Given the description of an element on the screen output the (x, y) to click on. 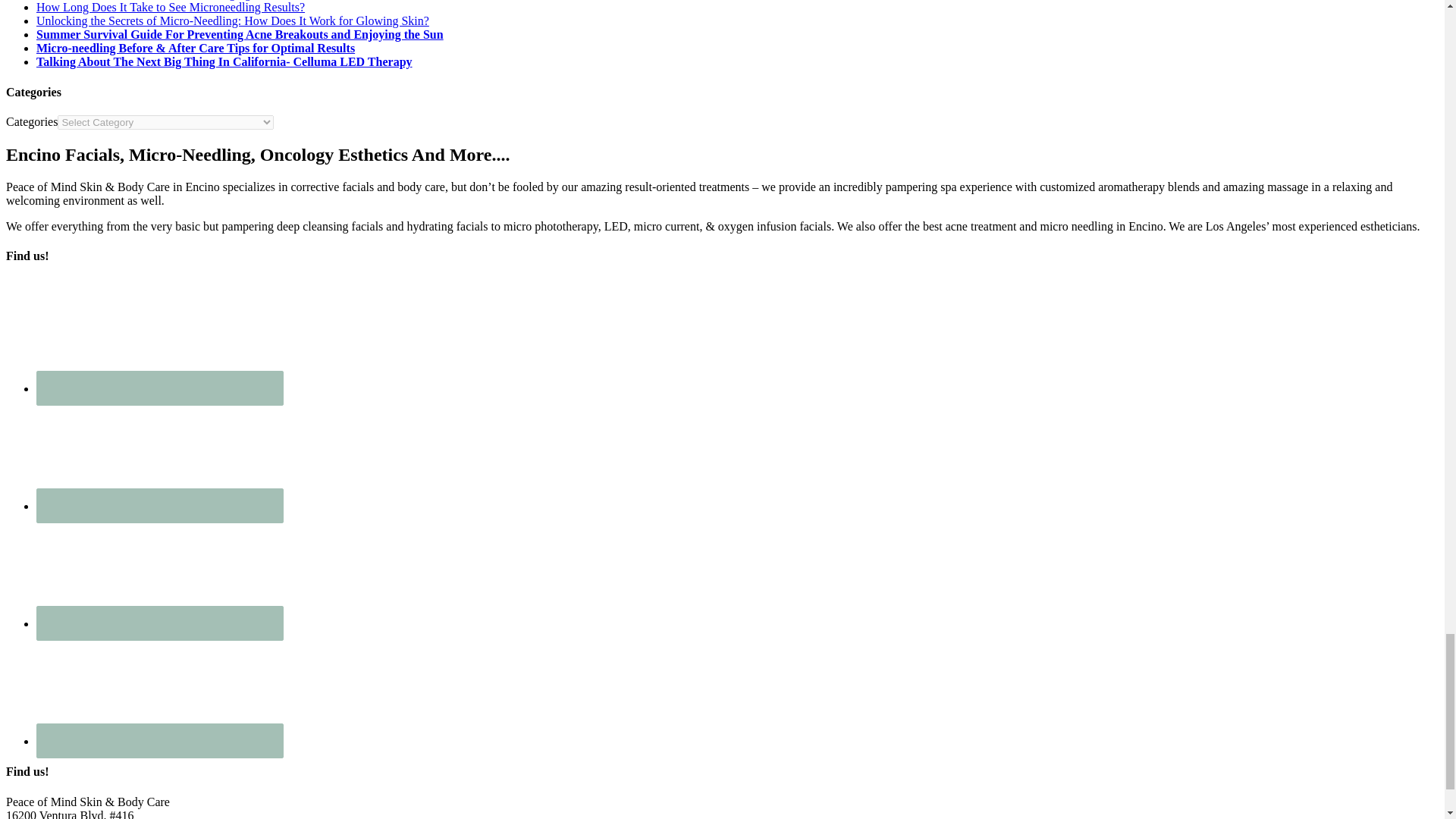
Twitter (159, 688)
Pinterest (159, 571)
Instagram (159, 453)
Facebook (159, 336)
